Given the description of an element on the screen output the (x, y) to click on. 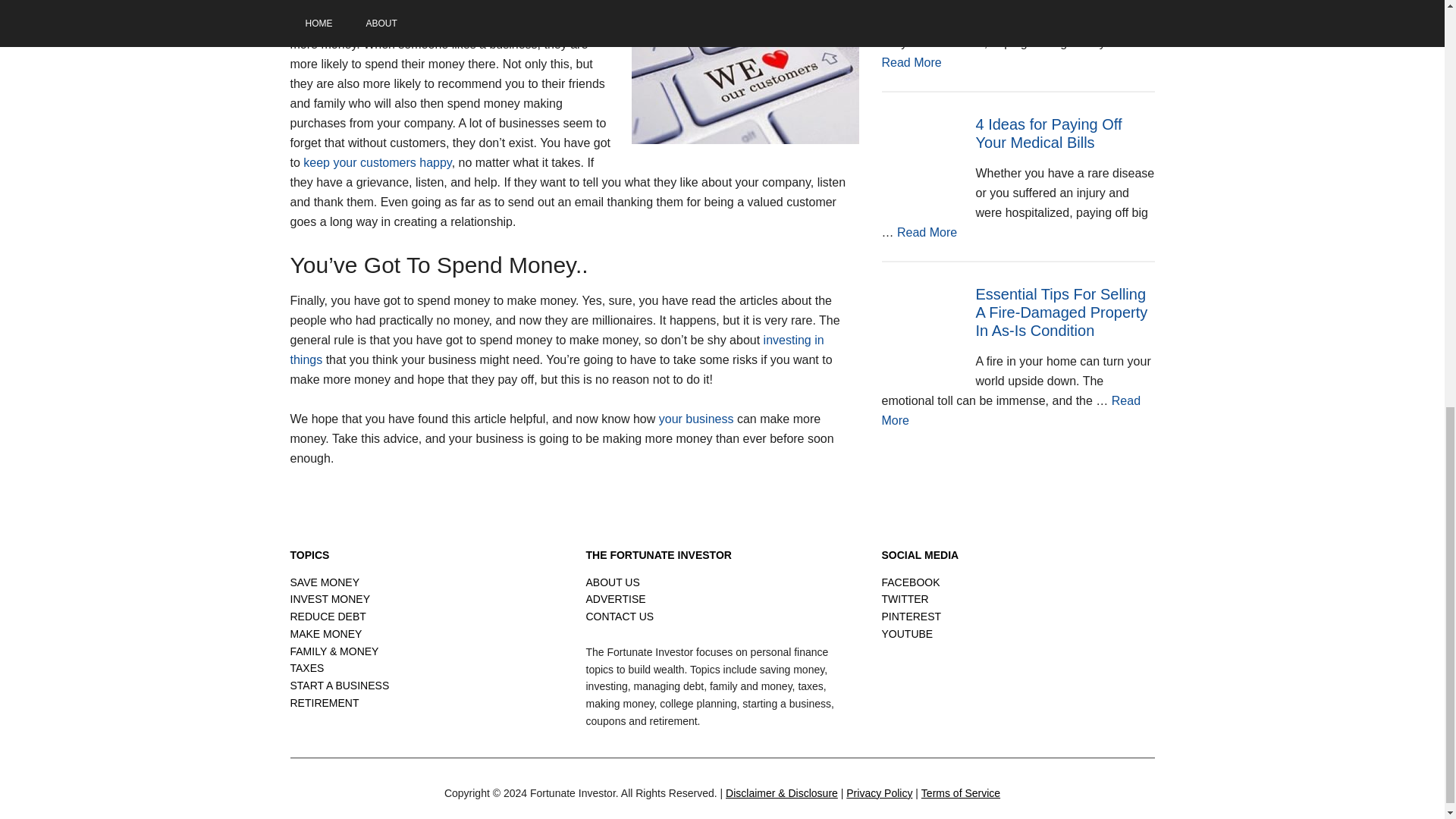
How Can Your Business Make More Money? 2 (744, 75)
your business (696, 418)
keep your customers happy (376, 162)
4 Ideas for Paying Off Your Medical Bills (1048, 133)
investing in things (926, 232)
